Given the description of an element on the screen output the (x, y) to click on. 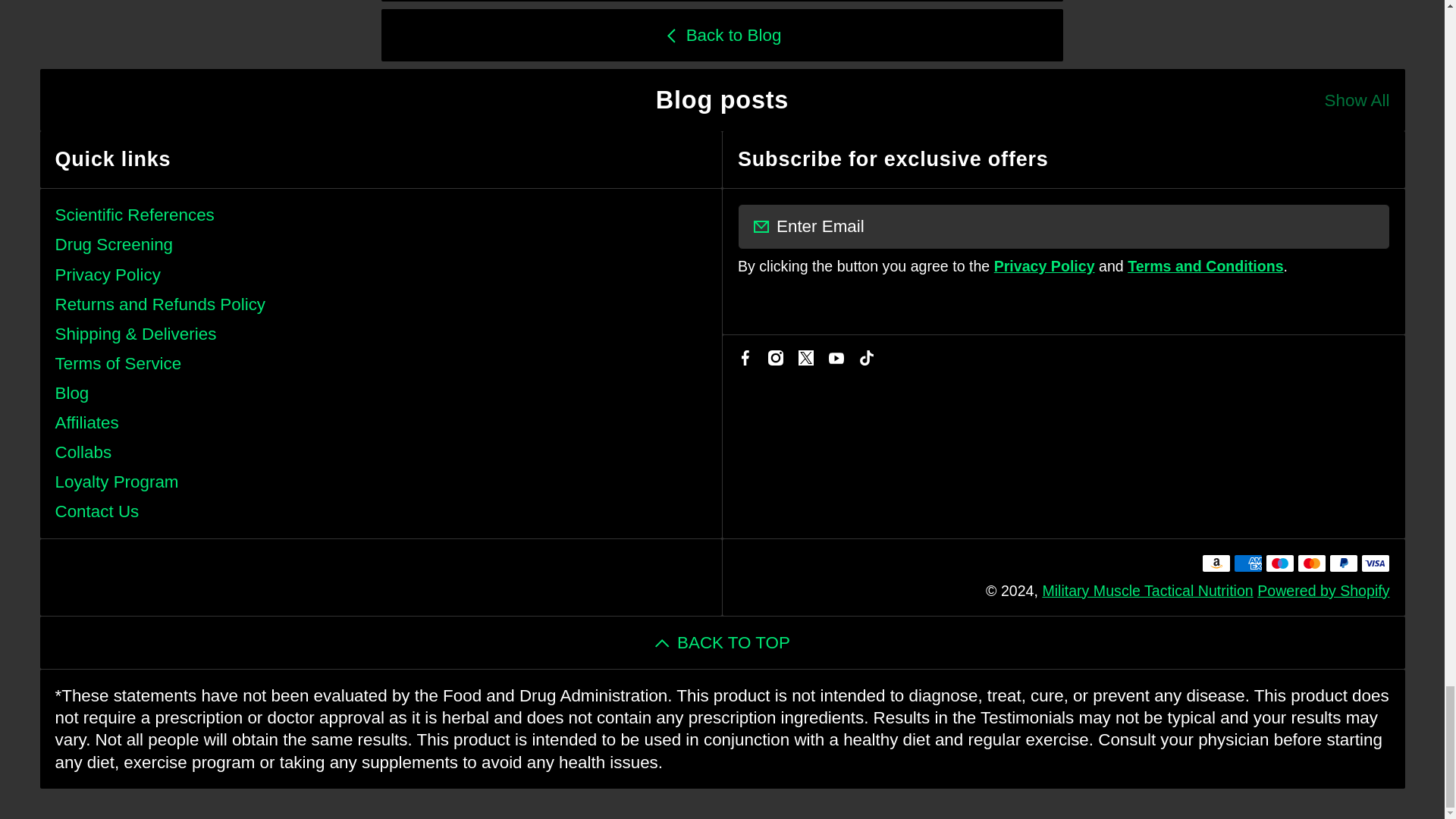
PayPal (1341, 563)
American Express (1247, 563)
Mastercard (1310, 563)
Maestro (1279, 563)
Visa (1374, 563)
Amazon (1215, 563)
